Given the description of an element on the screen output the (x, y) to click on. 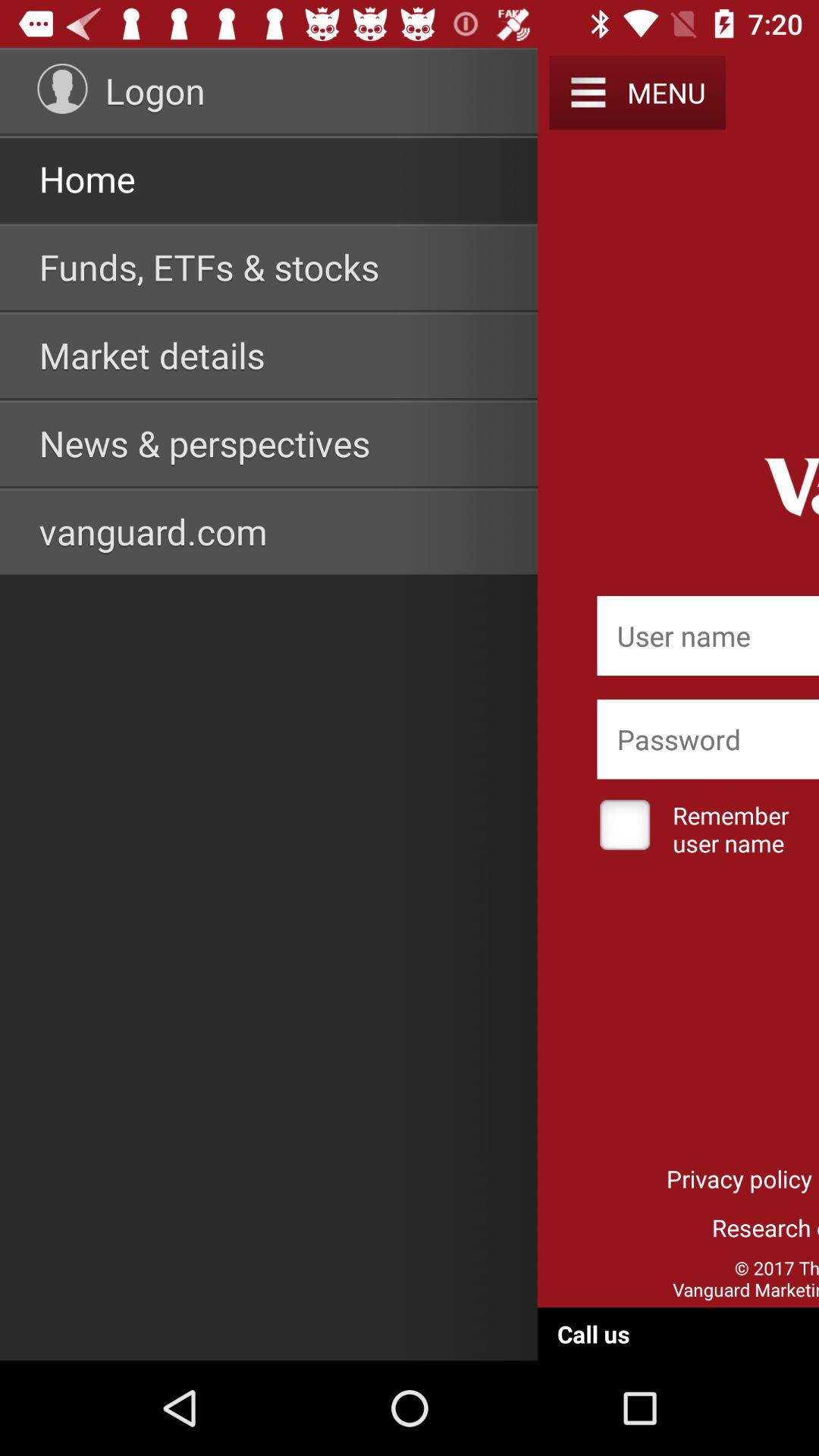
turn off the news & perspectives item (204, 443)
